Given the description of an element on the screen output the (x, y) to click on. 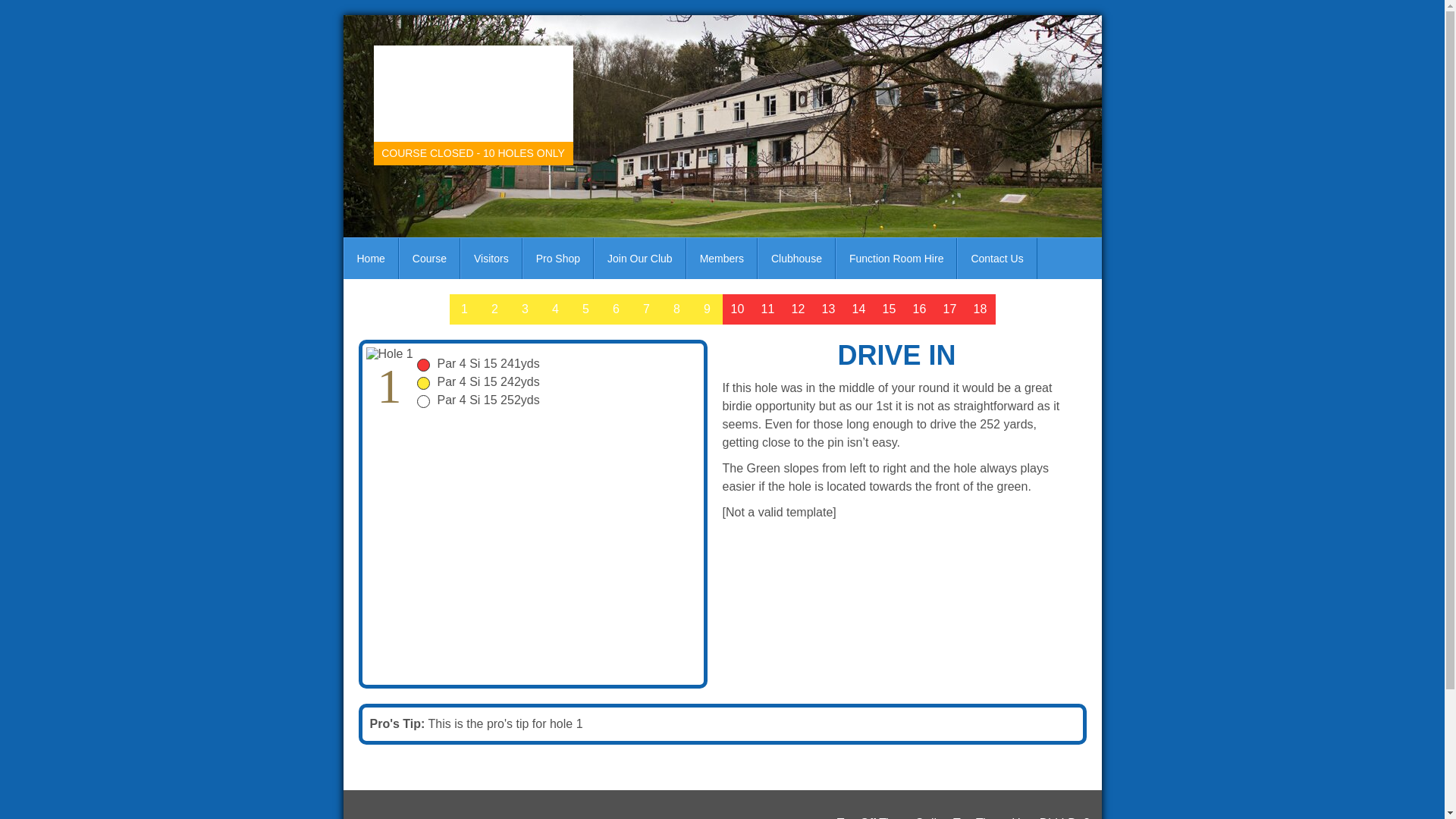
6 (614, 309)
1 (463, 309)
Function Room Hire (895, 258)
Clubhouse (796, 258)
2 (494, 309)
10 (737, 309)
11 (767, 309)
Visitors (491, 258)
Contact Us (996, 258)
3 (524, 309)
